Given the description of an element on the screen output the (x, y) to click on. 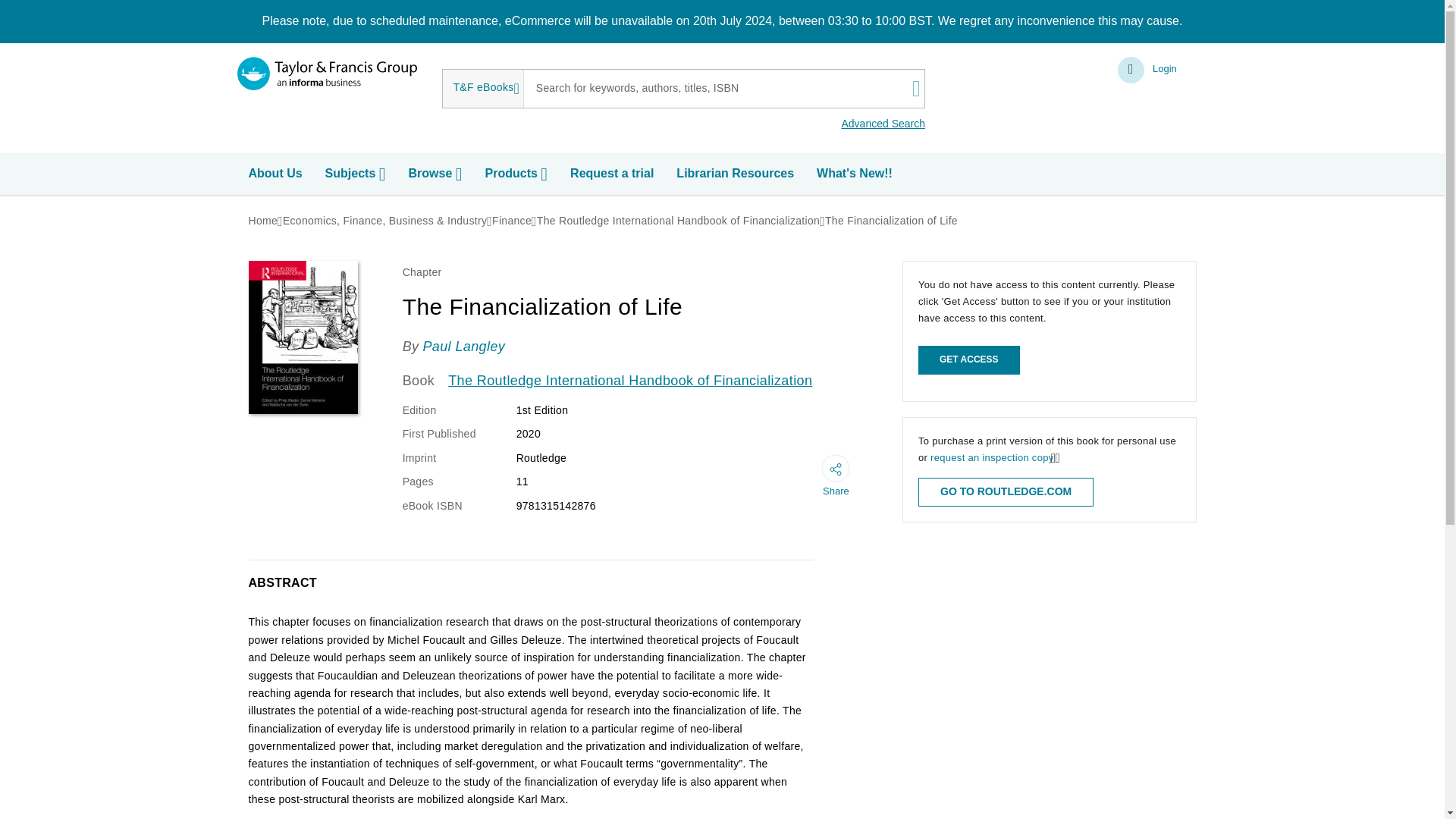
The Routledge International Handbook of Financialization (630, 381)
Paul Langley (463, 346)
Subjects (357, 173)
Browse (437, 173)
The Financialization of Life (891, 220)
Subjects (357, 173)
Finance (511, 220)
Librarian Resources (737, 173)
Home (263, 220)
Browse (437, 173)
request an inspection copy (991, 457)
Products (517, 173)
What's New!! (856, 173)
GO TO ROUTLEDGE.COM (1005, 491)
Login (1147, 69)
